Given the description of an element on the screen output the (x, y) to click on. 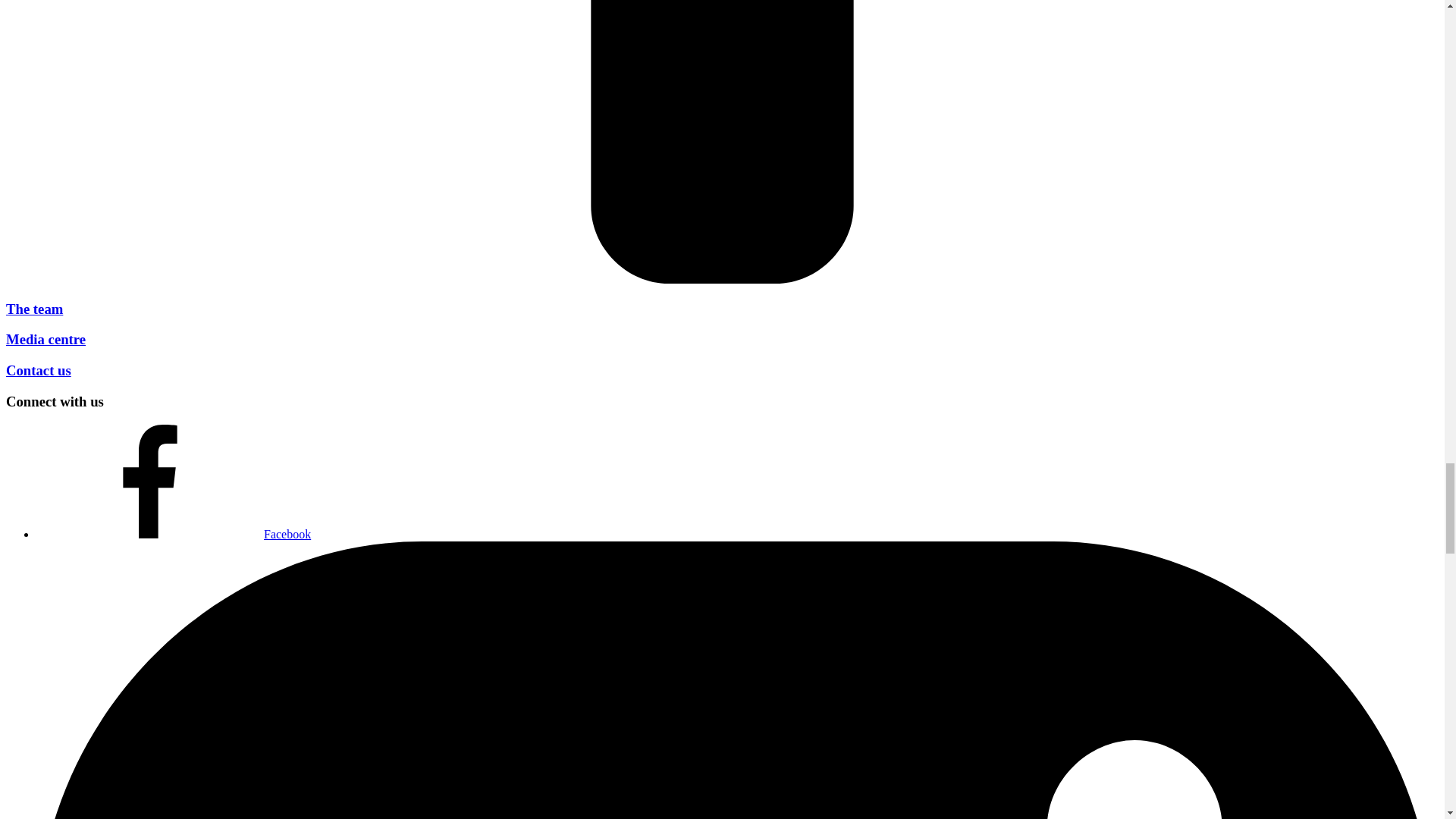
Media centre (45, 339)
Contact us (38, 370)
The team (33, 308)
Facebook (173, 533)
